Given the description of an element on the screen output the (x, y) to click on. 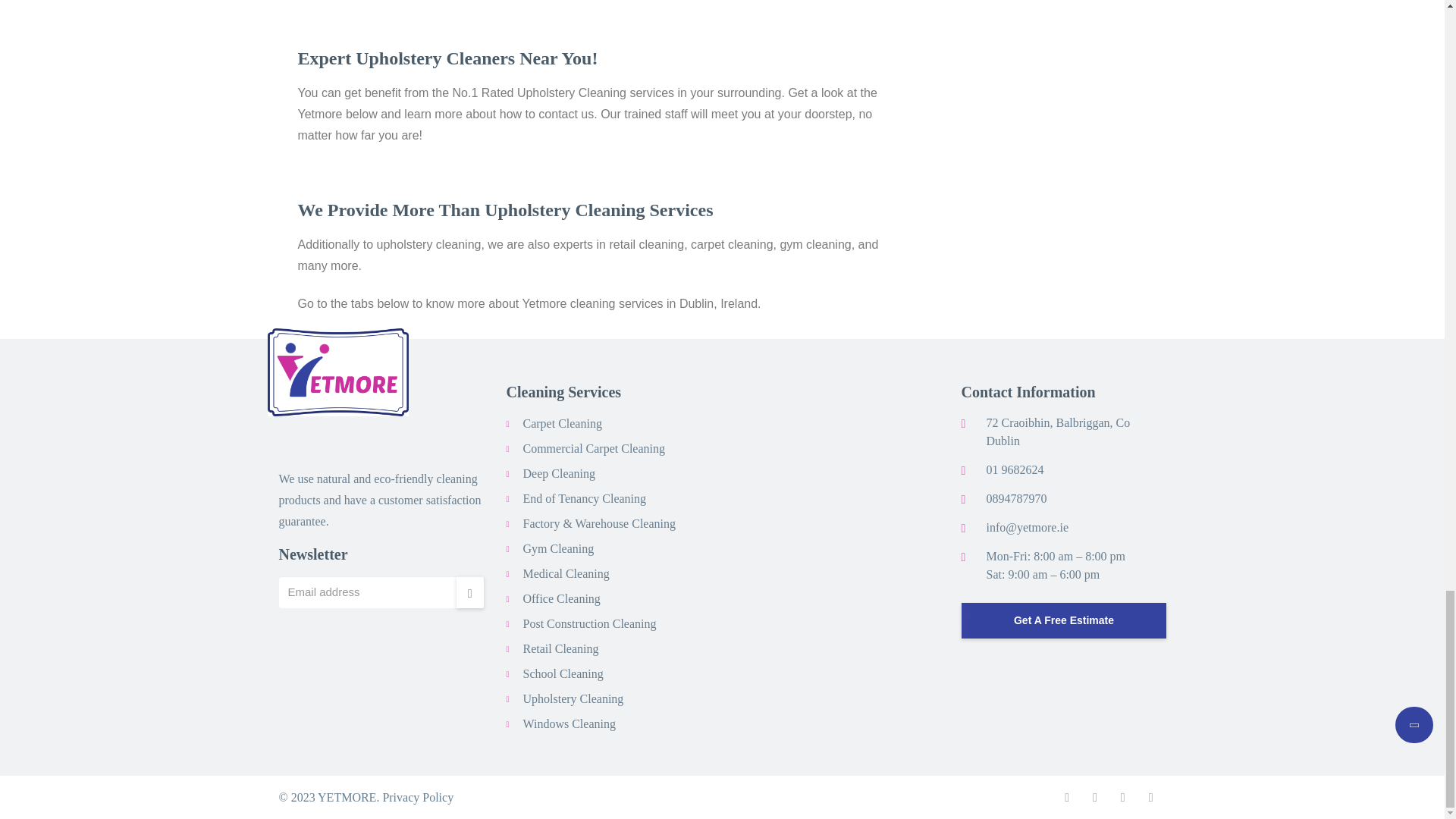
Medical Cleaning (566, 573)
Post Construction Cleaning (589, 623)
Commercial Carpet Cleaning (593, 447)
Deep Cleaning (558, 472)
Windows Cleaning (568, 723)
Gym Cleaning (558, 547)
Office Cleaning (560, 597)
Retail Cleaning (560, 647)
Carpet Cleaning (562, 422)
School Cleaning (563, 673)
Upholstery Cleaning (573, 697)
End of Tenancy Cleaning (584, 497)
